Given the description of an element on the screen output the (x, y) to click on. 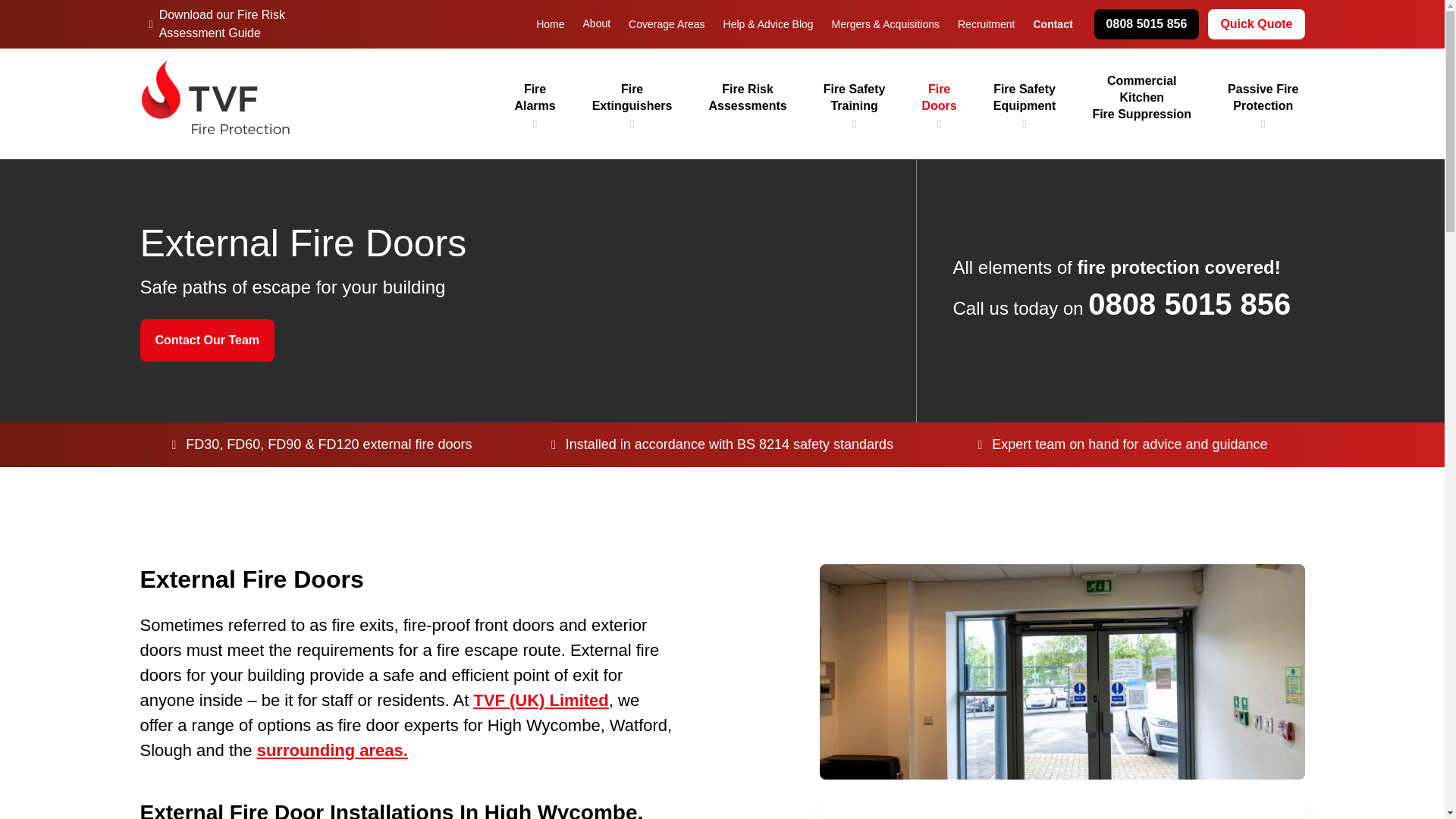
Home (1024, 97)
About (550, 24)
Quick Quote (1262, 97)
Contact (1141, 97)
Coverage Areas (596, 23)
0808 5015 856 (747, 97)
Recruitment (1256, 24)
Download our Fire Risk Assessment Guide (1052, 24)
